Given the description of an element on the screen output the (x, y) to click on. 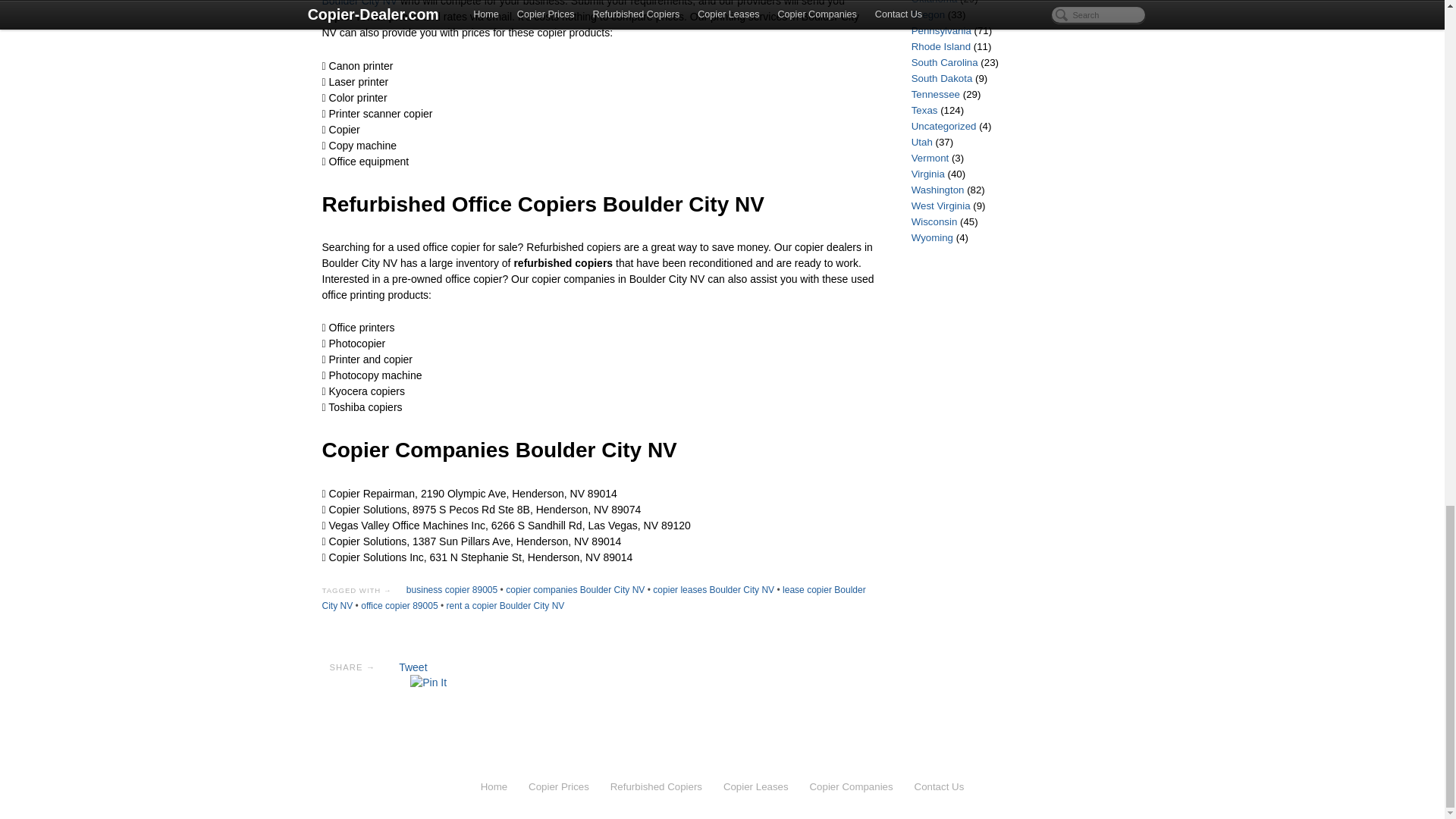
copier services in Boulder City NV (584, 3)
copier leases Boulder City NV (713, 589)
office copier 89005 (399, 605)
business copier 89005 (451, 589)
lease copier Boulder City NV (592, 597)
Pin It (428, 682)
Tweet (412, 666)
rent a copier Boulder City NV (505, 605)
copier companies Boulder City NV (575, 589)
